Given the description of an element on the screen output the (x, y) to click on. 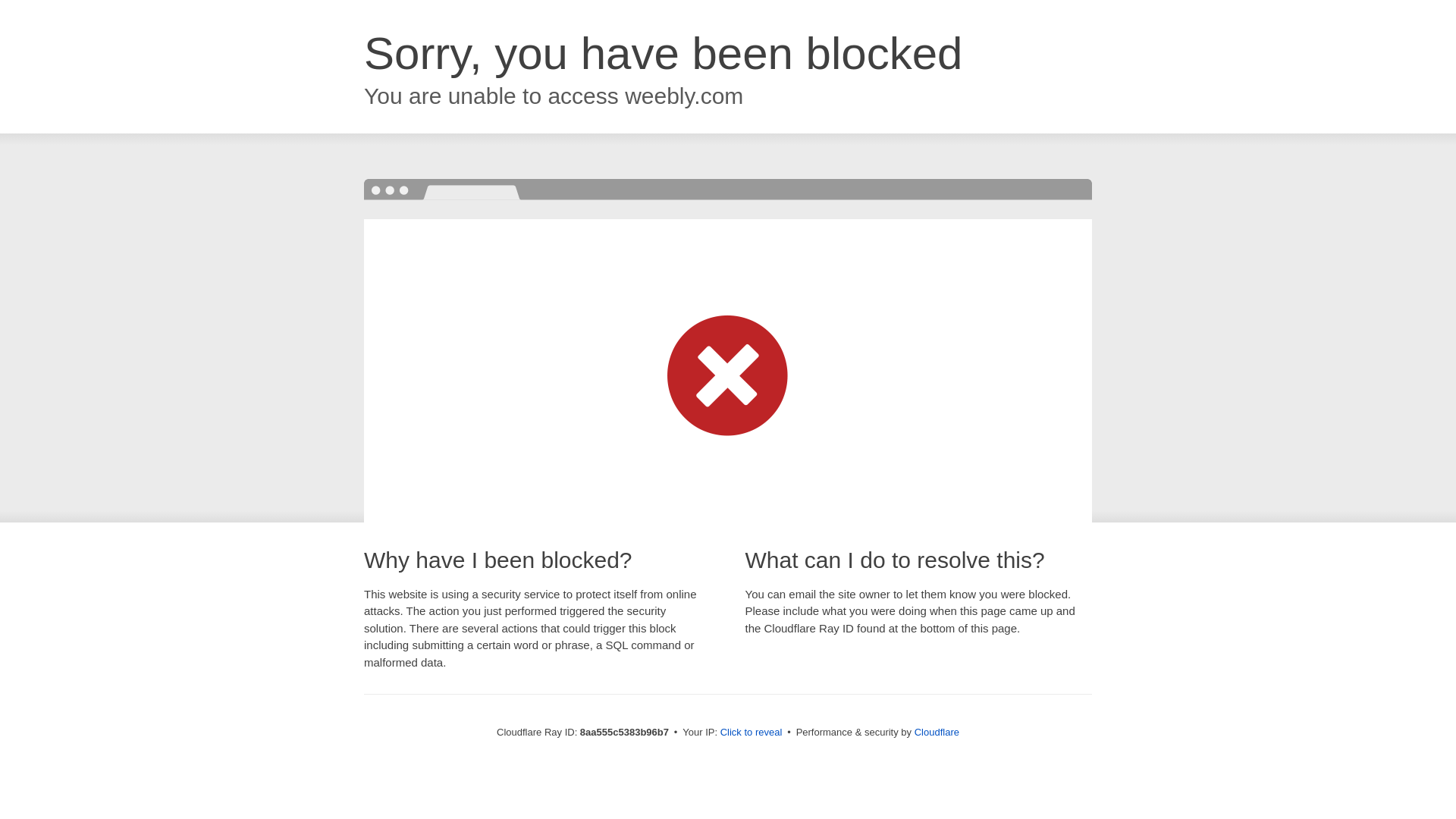
Click to reveal (751, 732)
Cloudflare (936, 731)
